Given the description of an element on the screen output the (x, y) to click on. 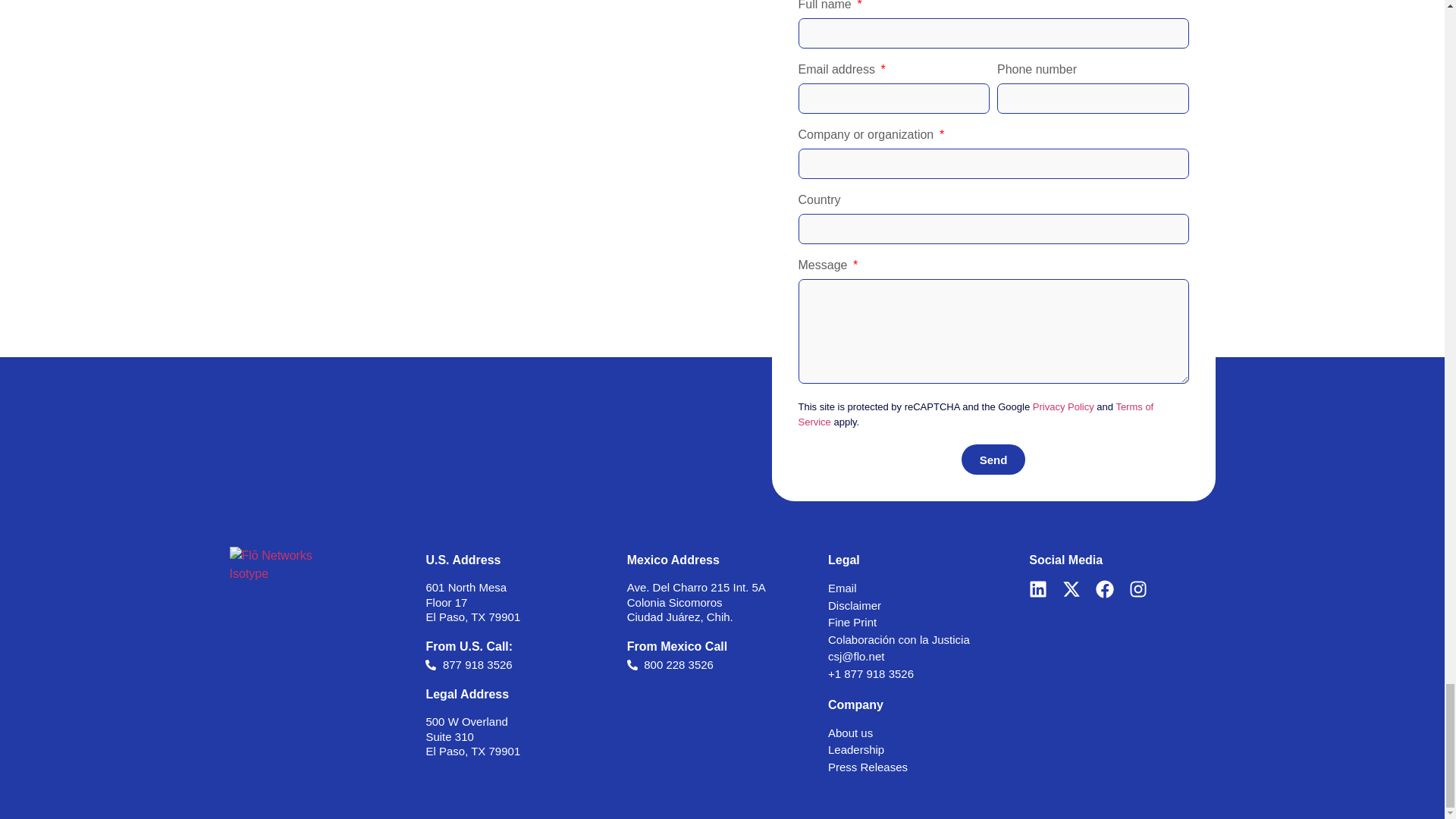
Send (993, 459)
Privacy Policy (1063, 406)
Terms of Service (975, 414)
